Given the description of an element on the screen output the (x, y) to click on. 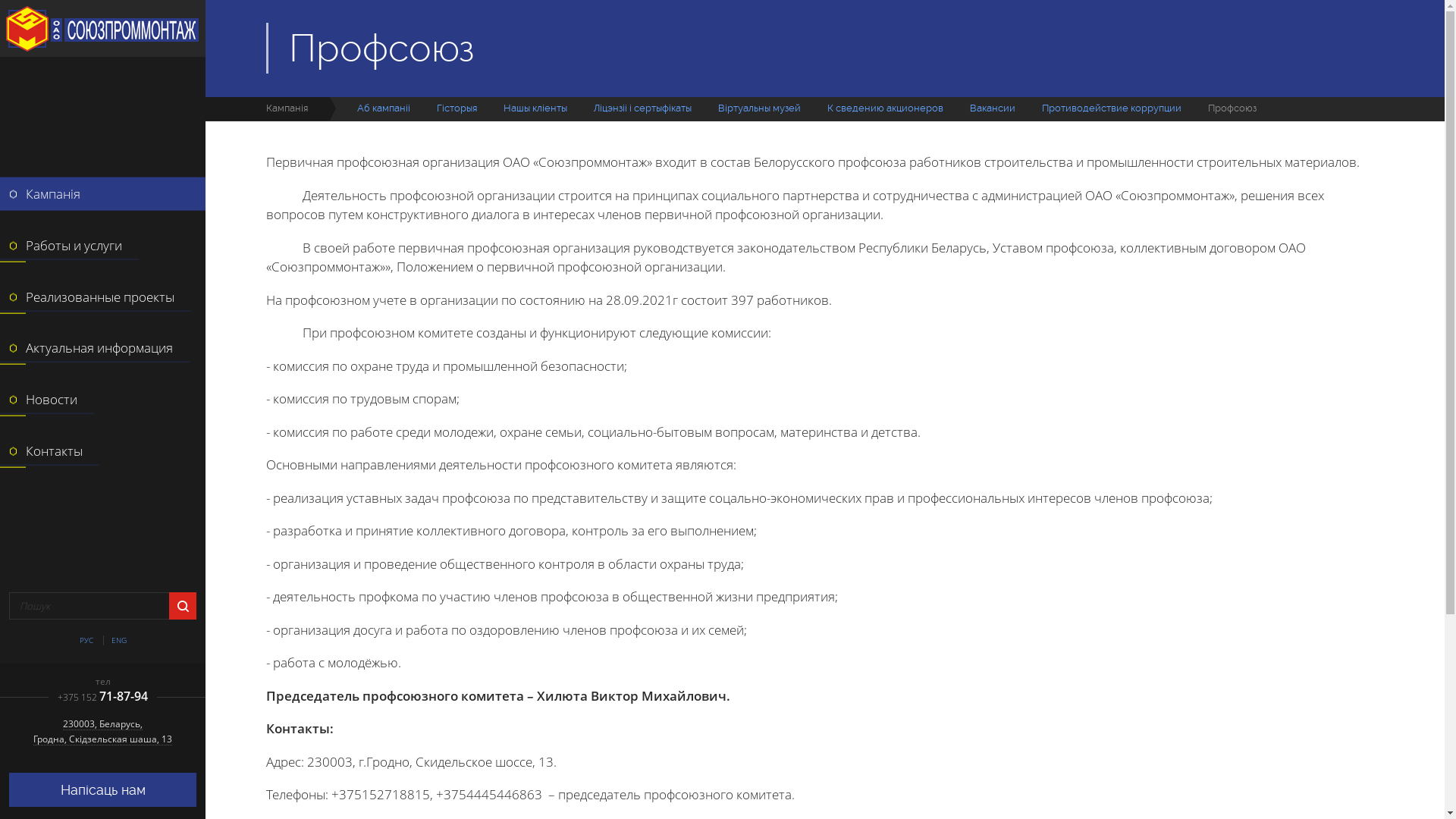
ENG Element type: text (117, 640)
